Given the description of an element on the screen output the (x, y) to click on. 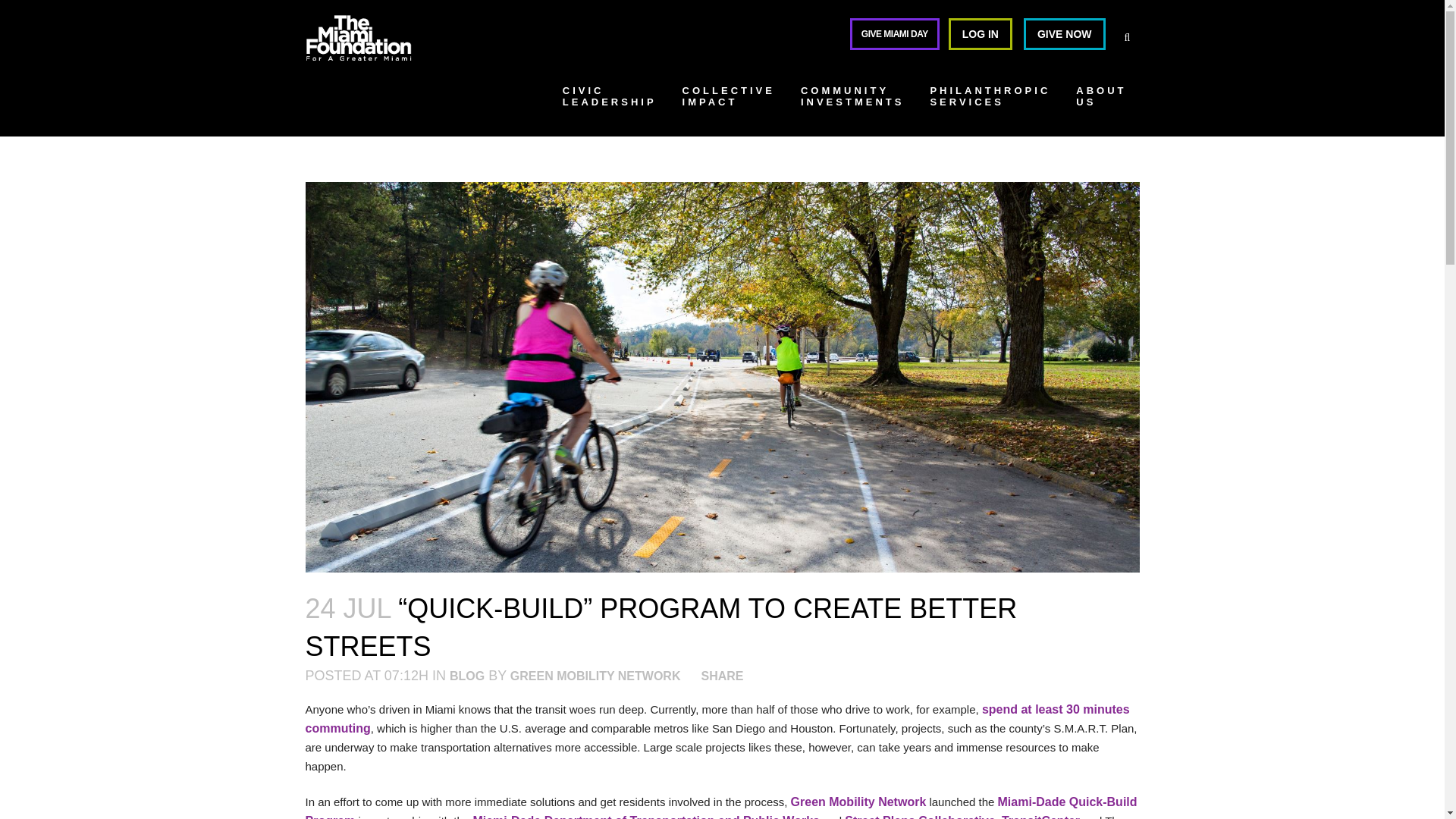
GIVE NOW (1064, 33)
